Given the description of an element on the screen output the (x, y) to click on. 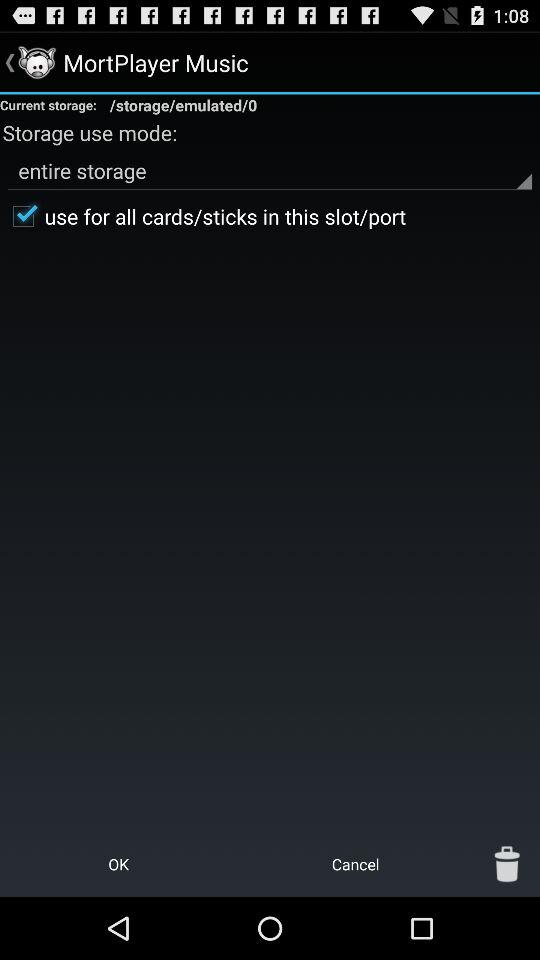
delete storage (507, 864)
